Given the description of an element on the screen output the (x, y) to click on. 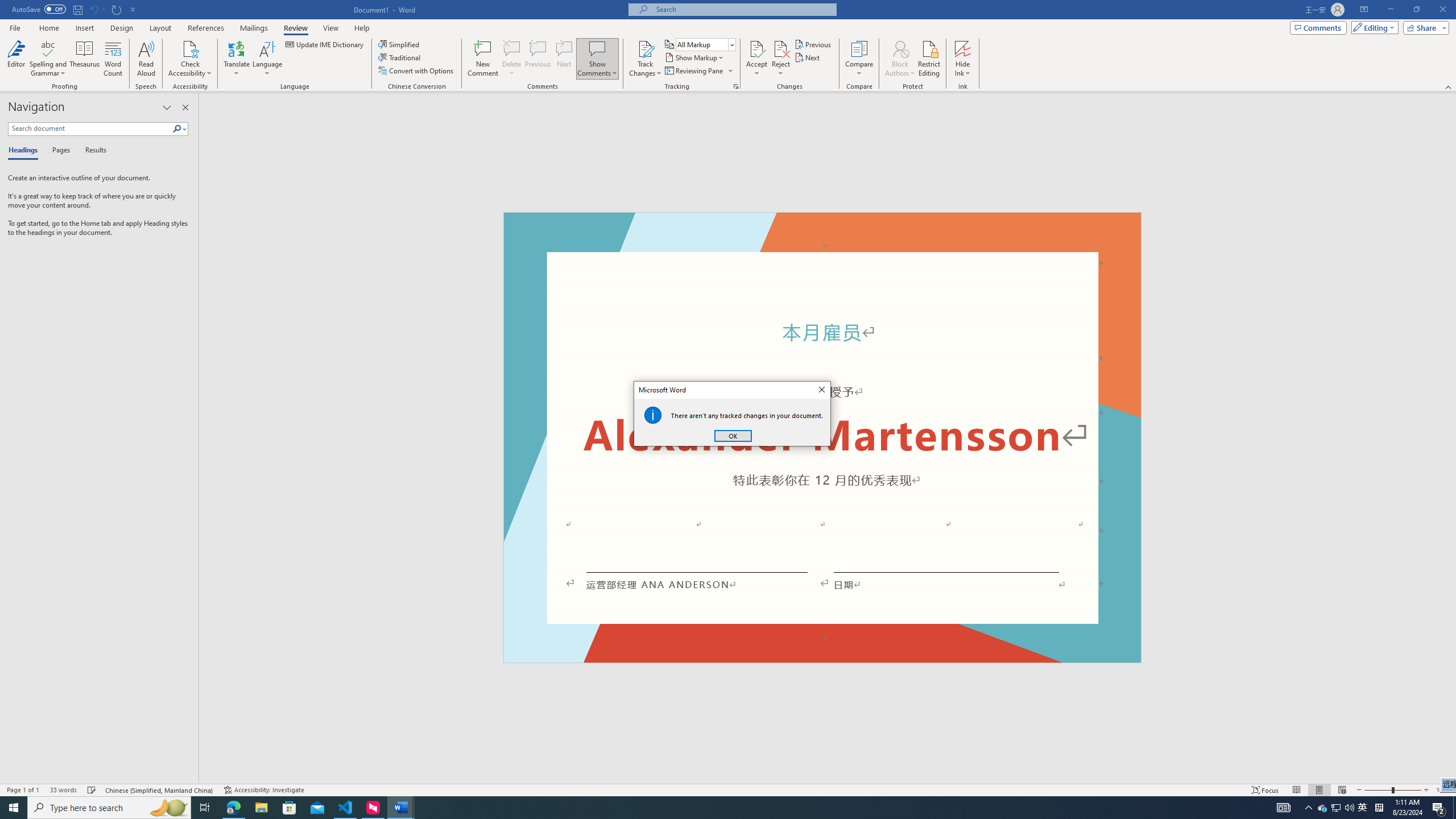
Block Authors (900, 58)
Reject and Move to Next (780, 48)
Microsoft search (742, 9)
Check Accessibility (189, 58)
Update IME Dictionary... (324, 44)
AutoSave (38, 9)
Class: NetUIScrollBar (1450, 437)
Customize Quick Access Toolbar (133, 9)
References (205, 28)
Can't Undo (96, 9)
New Comment (482, 58)
